Given the description of an element on the screen output the (x, y) to click on. 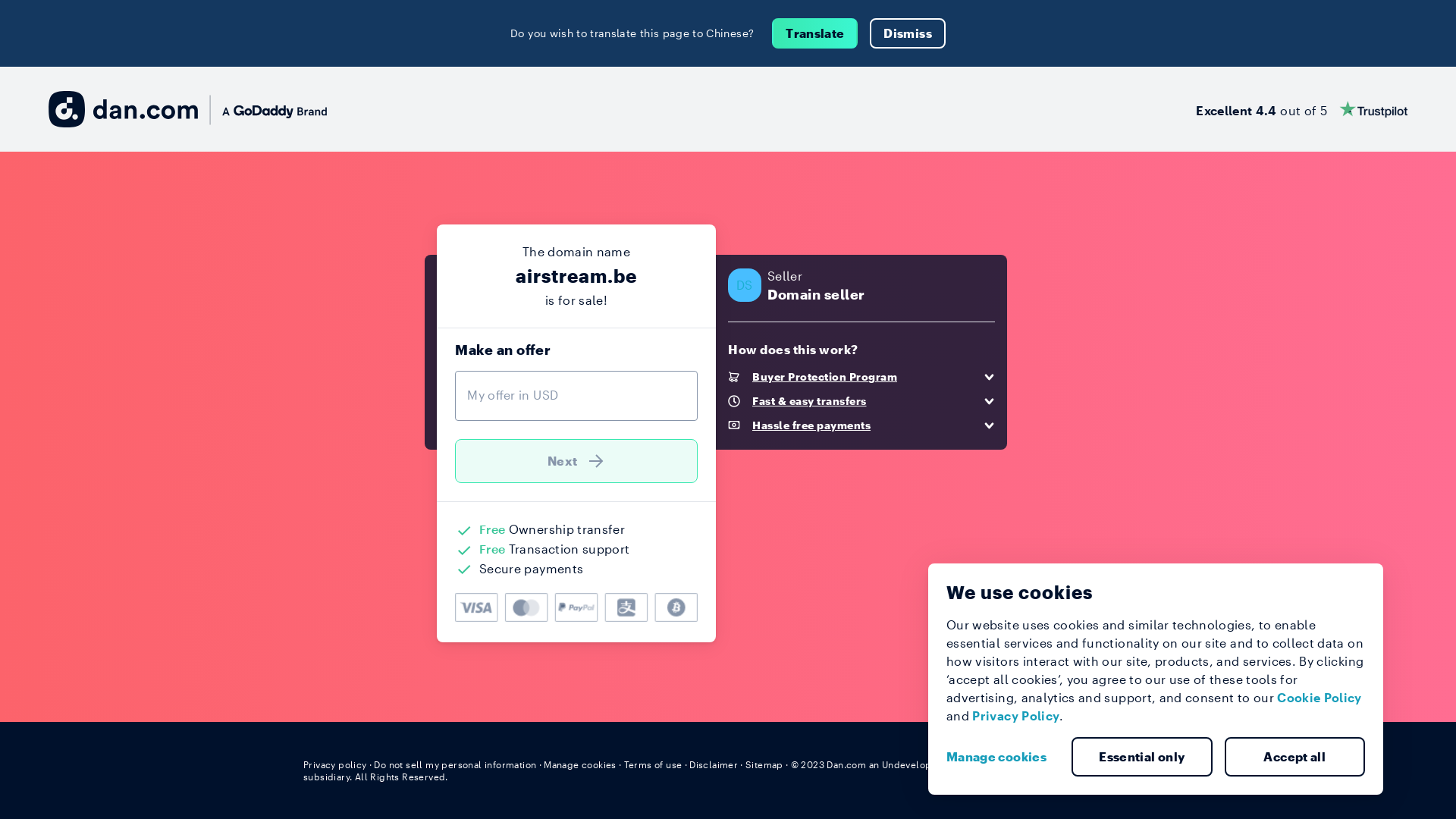
Dismiss Element type: text (906, 33)
English Element type: text (1124, 764)
Terms of use Element type: text (653, 764)
Disclaimer Element type: text (713, 764)
Next
) Element type: text (576, 461)
Cookie Policy Element type: text (1319, 697)
Essential only Element type: text (1141, 756)
Excellent 4.4 out of 5 Element type: text (1301, 109)
Privacy policy Element type: text (335, 764)
Manage cookies Element type: text (1002, 756)
Translate Element type: text (814, 33)
Manage cookies Element type: text (579, 764)
Accept all Element type: text (1294, 756)
Do not sell my personal information Element type: text (454, 764)
Sitemap Element type: text (764, 764)
Privacy Policy Element type: text (1015, 715)
DS Element type: text (744, 284)
